Given the description of an element on the screen output the (x, y) to click on. 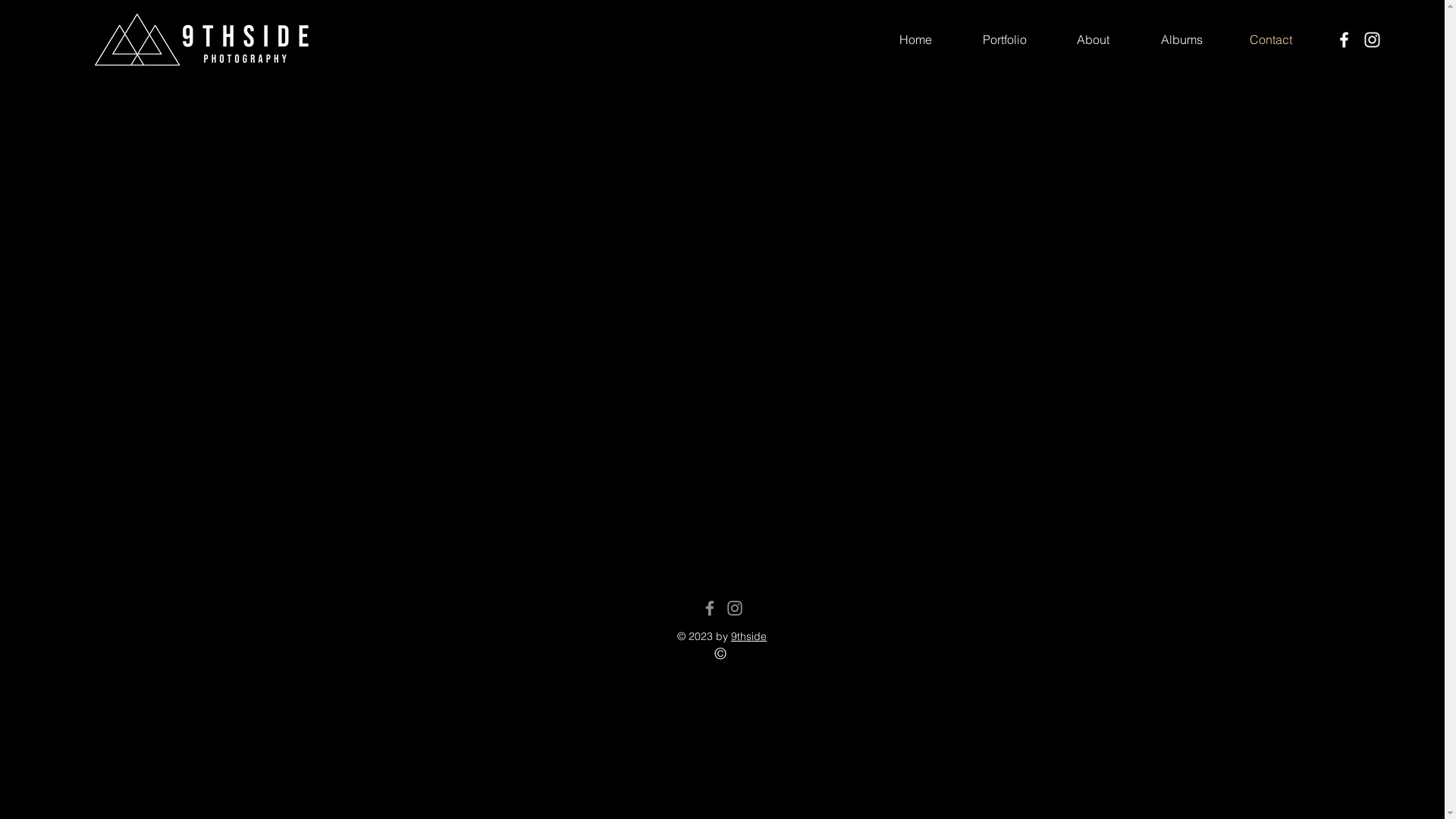
Contact Element type: text (1270, 39)
Home Element type: text (915, 39)
9thside Element type: text (748, 636)
Albums Element type: text (1181, 39)
About Element type: text (1092, 39)
Portfolio Element type: text (1004, 39)
